Given the description of an element on the screen output the (x, y) to click on. 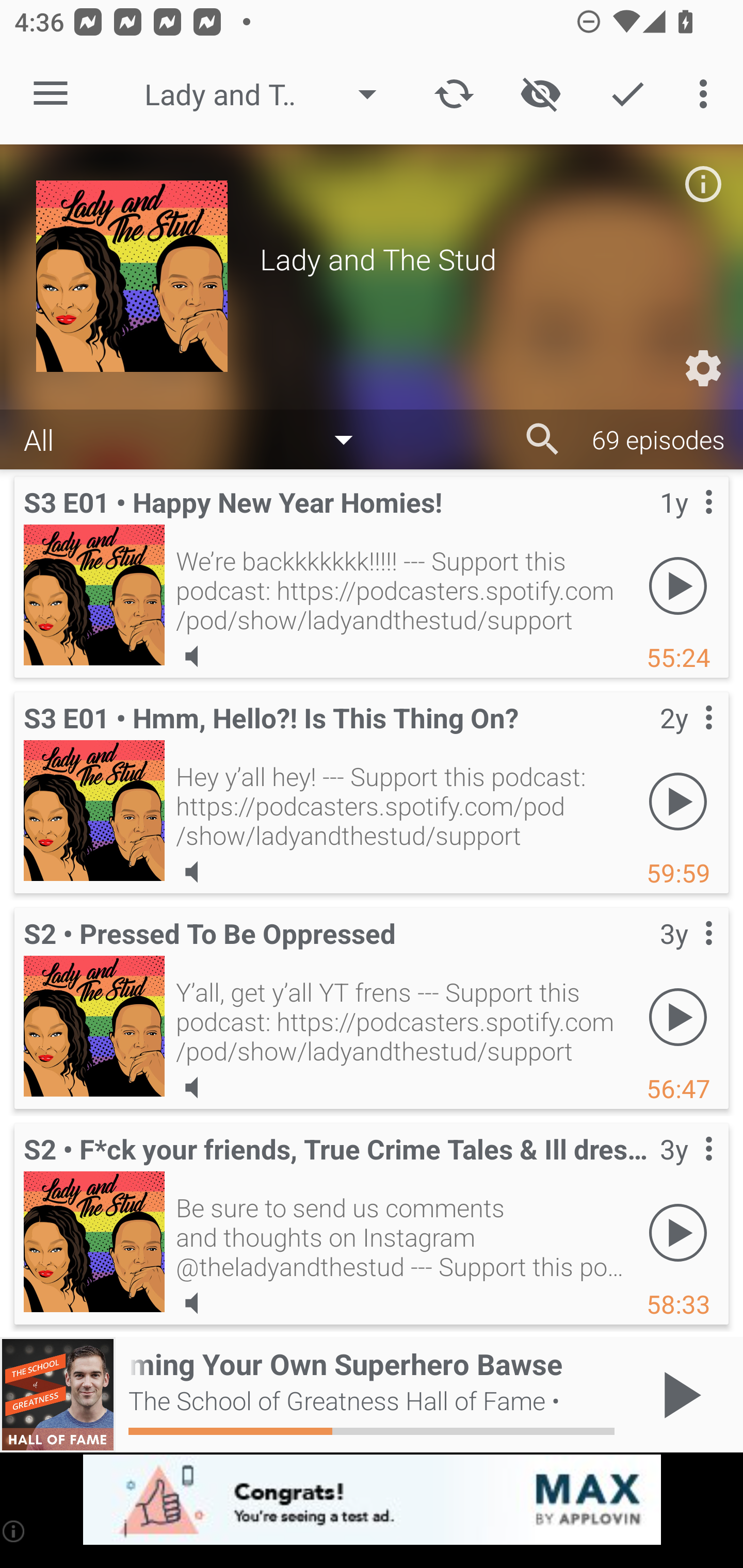
Open navigation sidebar (50, 93)
Update (453, 93)
Show / Hide played content (540, 93)
Action Mode (626, 93)
More options (706, 93)
Lady and The Stud (270, 94)
Podcast description (703, 184)
Custom Settings (703, 368)
Search (542, 439)
All (197, 438)
Contextual menu (685, 522)
Happy New Year Homies! (93, 594)
Play (677, 585)
Contextual menu (685, 738)
Hmm, Hello?! Is This Thing On? (93, 810)
Play (677, 801)
Contextual menu (685, 954)
Pressed To Be Oppressed (93, 1026)
Play (677, 1016)
Contextual menu (685, 1169)
Play (677, 1232)
Play / Pause (677, 1394)
app-monetization (371, 1500)
(i) (14, 1531)
